Given the description of an element on the screen output the (x, y) to click on. 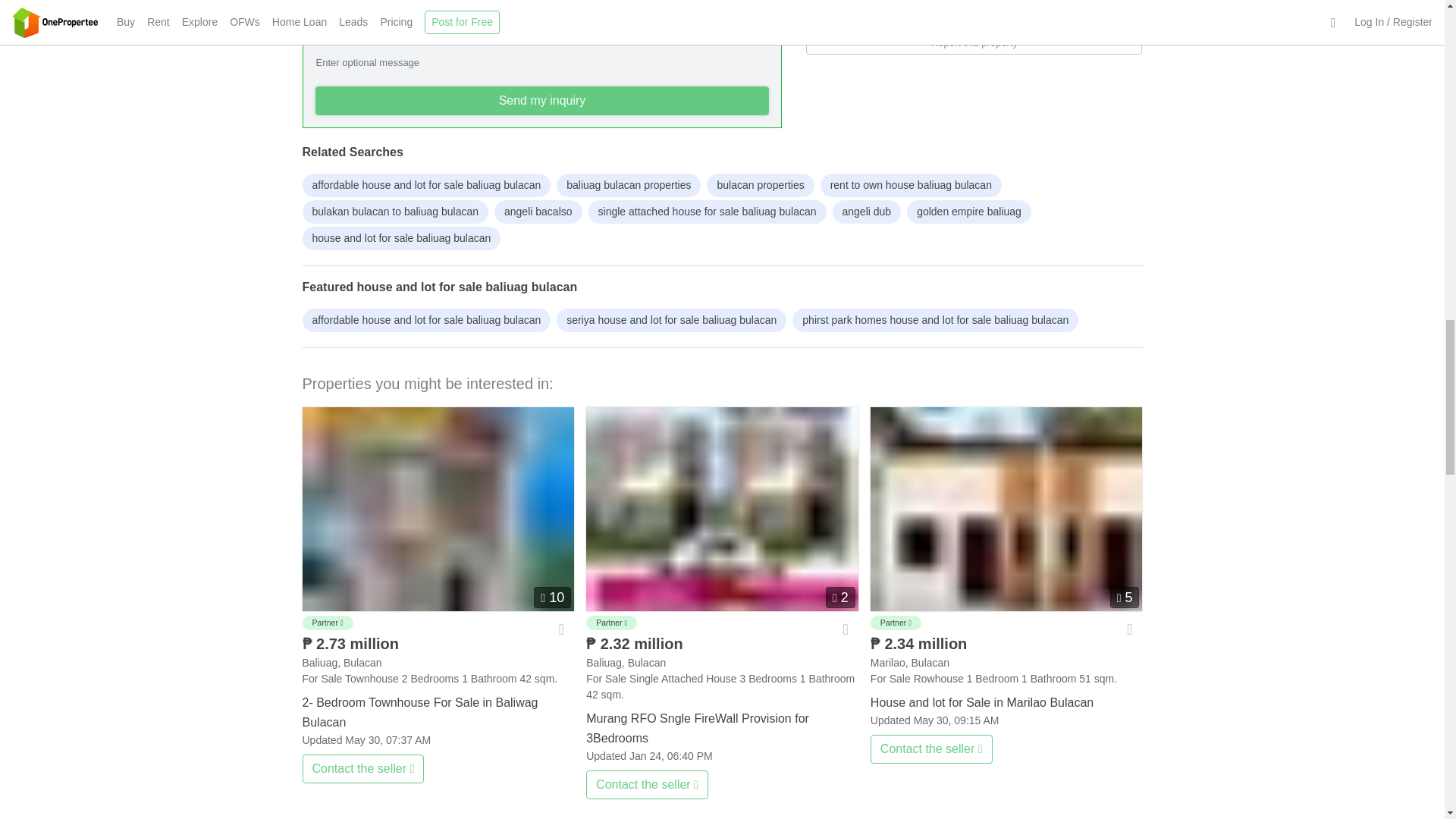
Murang RFO Sngle FireWall Provision for 3Bedrooms (722, 724)
2- Bedroom  Townhouse For Sale in Baliwag Bulacan (437, 508)
Murang RFO Sngle FireWall Provision for 3Bedrooms (722, 508)
2- Bedroom  Townhouse For Sale in Baliwag Bulacan (437, 709)
House and lot for Sale in Marilao Bulacan (1006, 508)
House and lot for Sale in Marilao Bulacan (1006, 699)
